Given the description of an element on the screen output the (x, y) to click on. 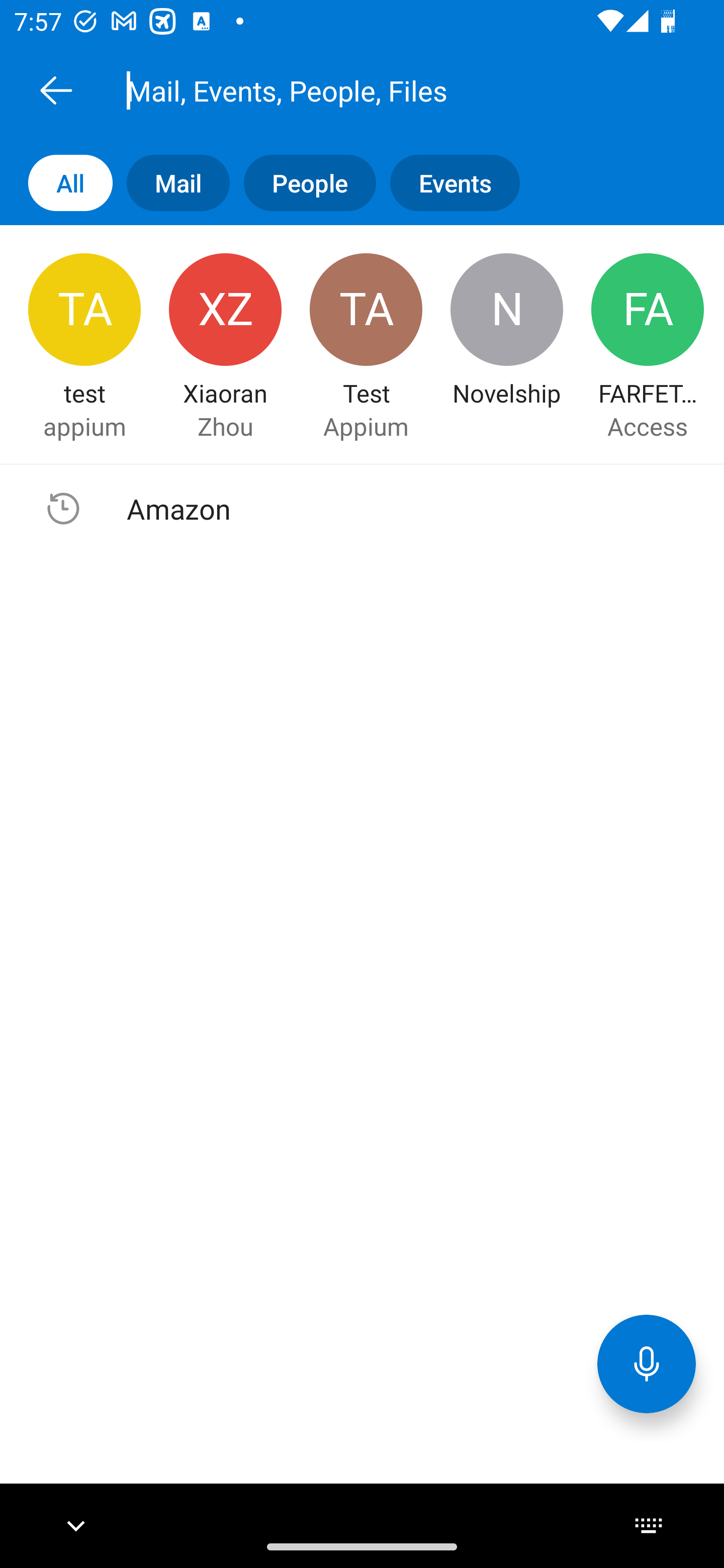
Back (55, 89)
Mail, Events, People, Files (384, 89)
Mail (170, 183)
People (302, 183)
Events (447, 183)
Suggested search , Text, Amazon Amazon (362, 508)
Voice Assistant (646, 1362)
